Given the description of an element on the screen output the (x, y) to click on. 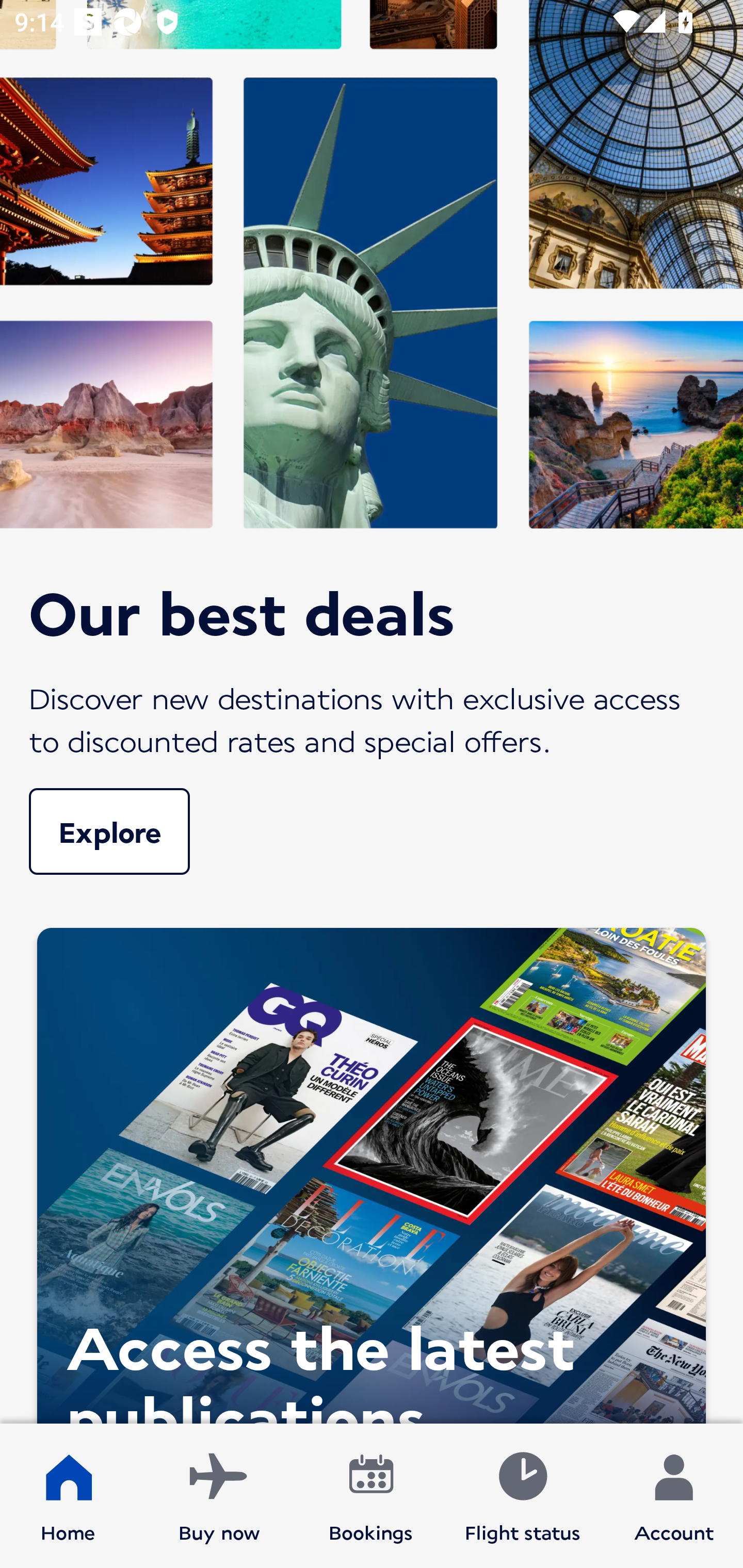
Access the latest publications (371, 1170)
Buy now (219, 1495)
Bookings (370, 1495)
Flight status (522, 1495)
Account (674, 1495)
